Given the description of an element on the screen output the (x, y) to click on. 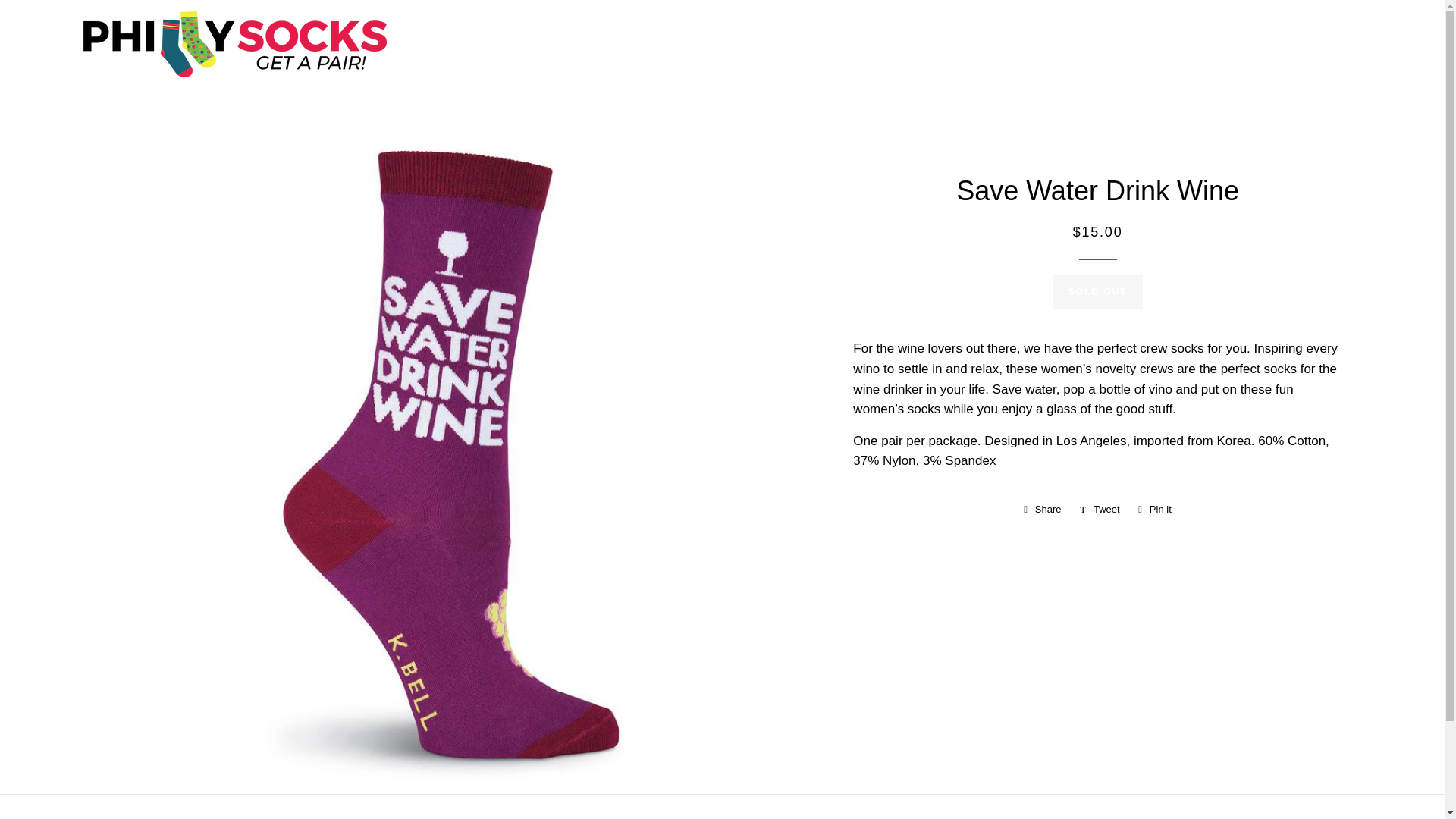
Pin on Pinterest (1154, 508)
Tweet on Twitter (1042, 508)
SOLD OUT (1098, 508)
Share on Facebook (1098, 508)
